Given the description of an element on the screen output the (x, y) to click on. 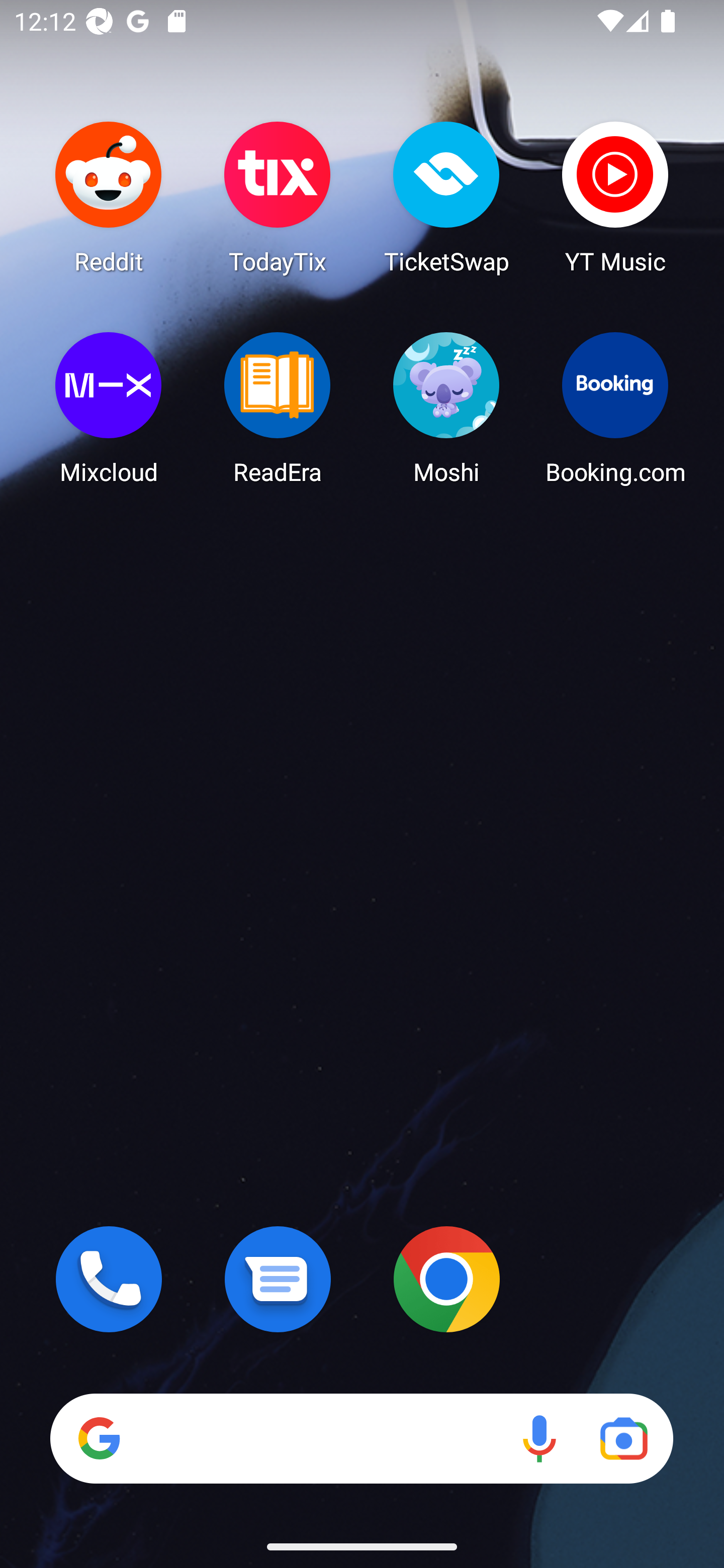
Reddit (108, 196)
TodayTix (277, 196)
TicketSwap (445, 196)
YT Music (615, 196)
Mixcloud (108, 407)
ReadEra (277, 407)
Moshi (445, 407)
Booking.com (615, 407)
Phone (108, 1279)
Messages (277, 1279)
Chrome (446, 1279)
Search Voice search Google Lens (361, 1438)
Voice search (539, 1438)
Google Lens (623, 1438)
